Given the description of an element on the screen output the (x, y) to click on. 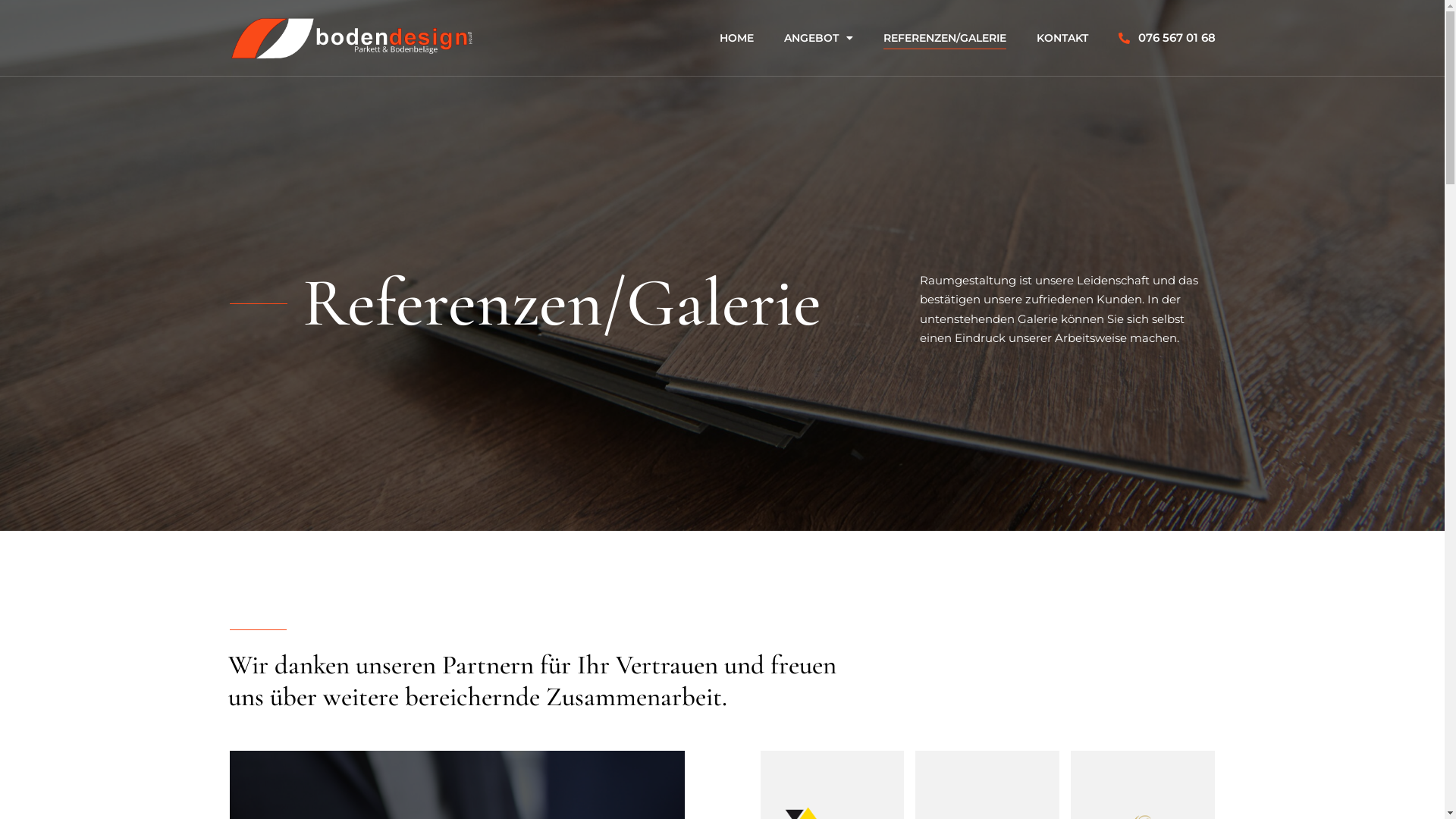
076 567 01 68 Element type: text (1166, 38)
KONTAKT Element type: text (1062, 37)
REFERENZEN/GALERIE Element type: text (944, 37)
HOME Element type: text (736, 37)
ANGEBOT Element type: text (818, 37)
